Given the description of an element on the screen output the (x, y) to click on. 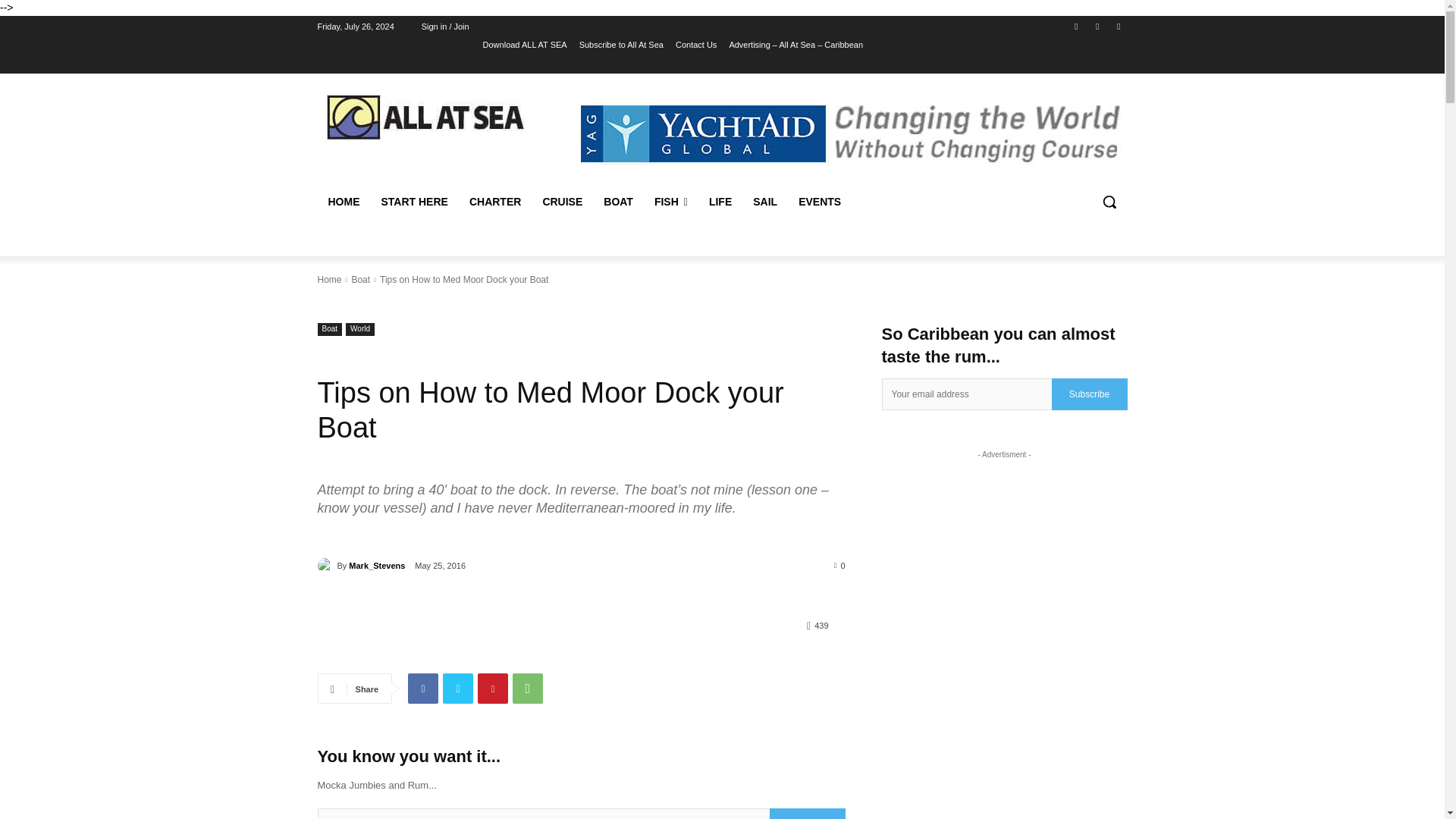
Instagram (1097, 27)
Twitter (457, 688)
FISH (670, 201)
CRUISE (561, 201)
View all posts in Boat (359, 279)
BOAT (617, 201)
Download ALL AT SEA (525, 44)
Facebook (1075, 27)
SAIL (764, 201)
START HERE (413, 201)
Pinterest (492, 688)
HOME (343, 201)
EVENTS (819, 201)
Contact Us (695, 44)
Subscribe to All At Sea (621, 44)
